Given the description of an element on the screen output the (x, y) to click on. 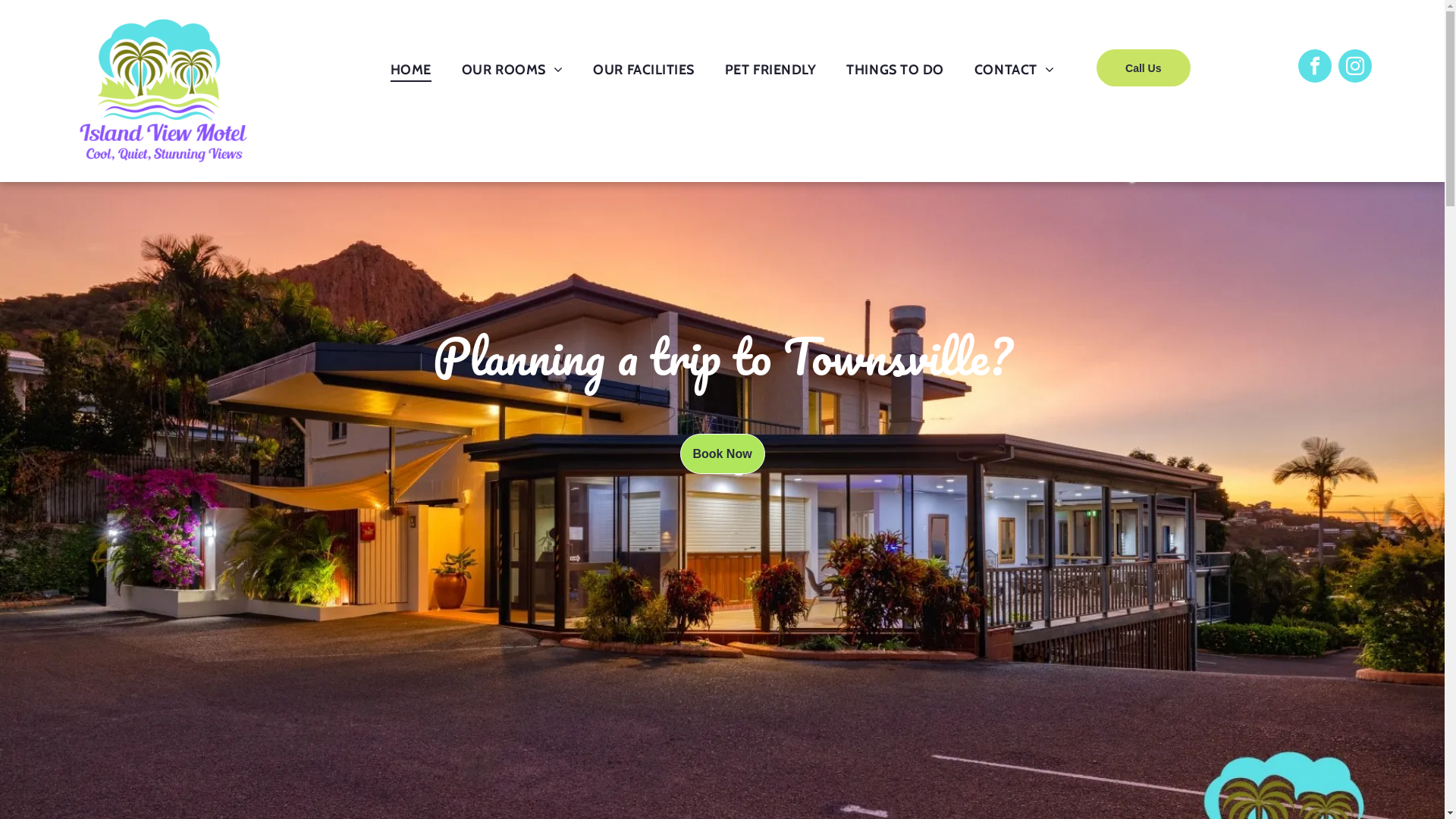
HOME Element type: text (410, 68)
PET FRIENDLY Element type: text (770, 68)
Book Now Element type: text (721, 453)
Call Us Element type: text (1143, 67)
OUR ROOMS Element type: text (511, 68)
CONTACT Element type: text (1014, 68)
THINGS TO DO Element type: text (894, 68)
OUR FACILITIES Element type: text (643, 68)
